Given the description of an element on the screen output the (x, y) to click on. 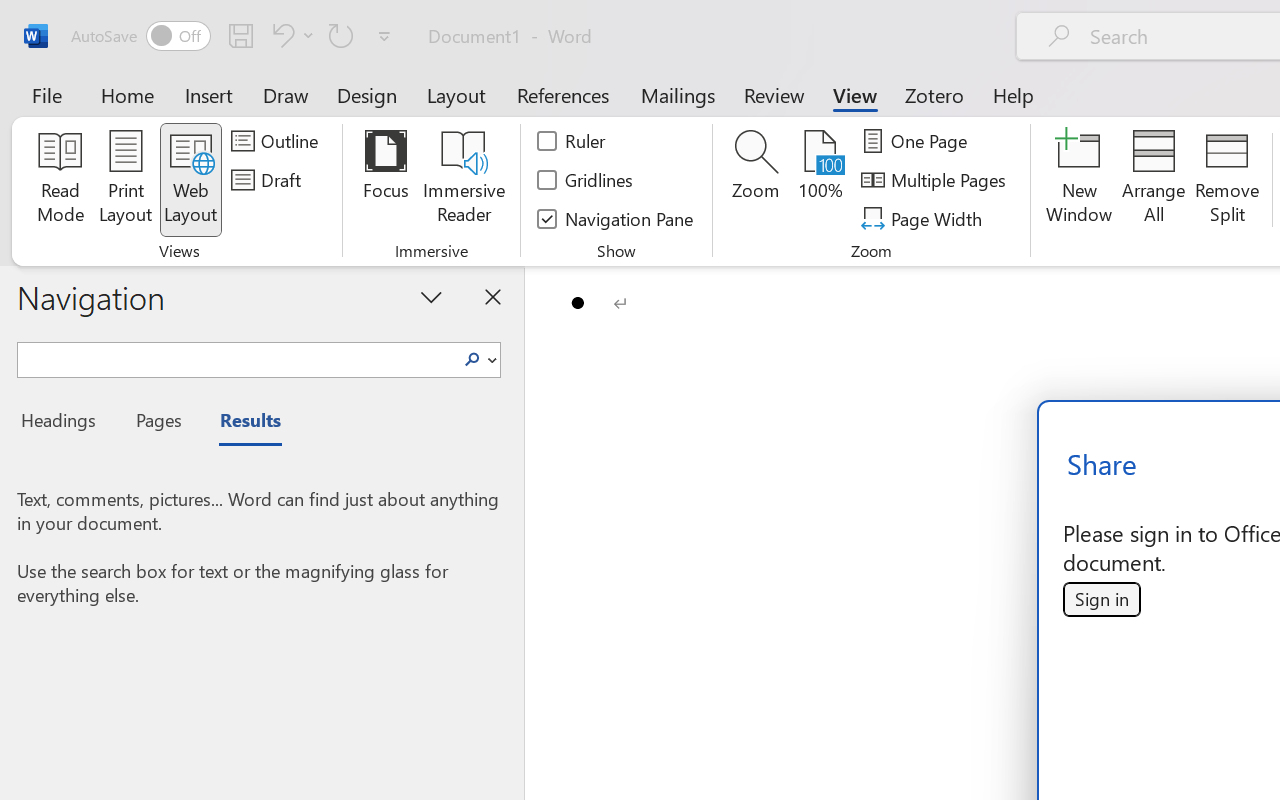
100% (820, 179)
Search document (236, 357)
Undo Bullet Default (280, 35)
New Window (1079, 179)
Ruler (572, 141)
Zoom... (755, 179)
